Given the description of an element on the screen output the (x, y) to click on. 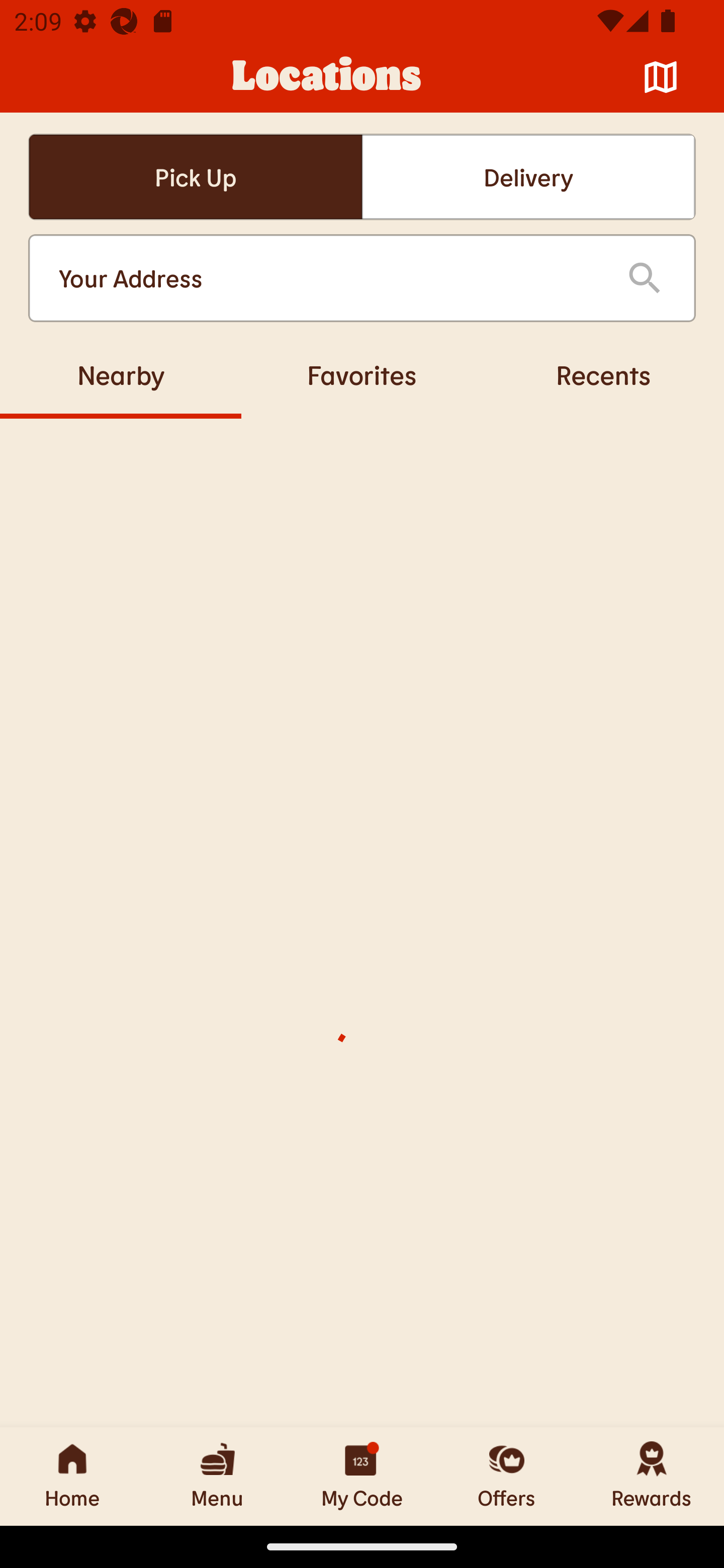
Map 󰦂 (660, 77)
Locations (326, 77)
Pick UpSelected Pick UpSelected Pick Up (195, 176)
Delivery Delivery Delivery (528, 176)
Your Address (327, 277)
Nearby (120, 374)
Favorites (361, 374)
Recents (603, 374)
Home (72, 1475)
Menu (216, 1475)
My Code (361, 1475)
Offers (506, 1475)
Rewards (651, 1475)
